Given the description of an element on the screen output the (x, y) to click on. 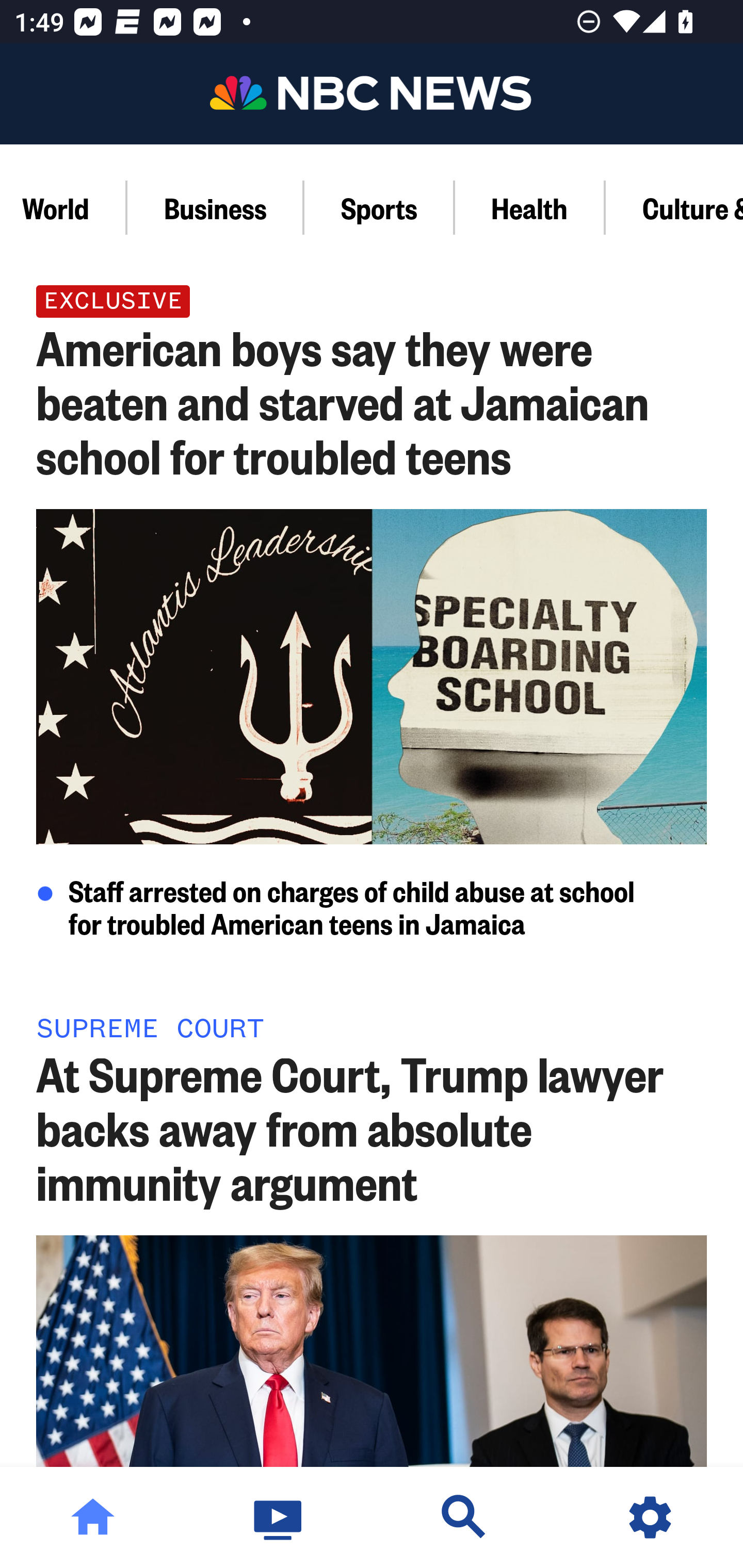
World Section,World (63, 207)
Business Section,Business (215, 207)
Sports Section,Sports (379, 207)
Health Section,Health (529, 207)
Watch (278, 1517)
Discover (464, 1517)
Settings (650, 1517)
